Given the description of an element on the screen output the (x, y) to click on. 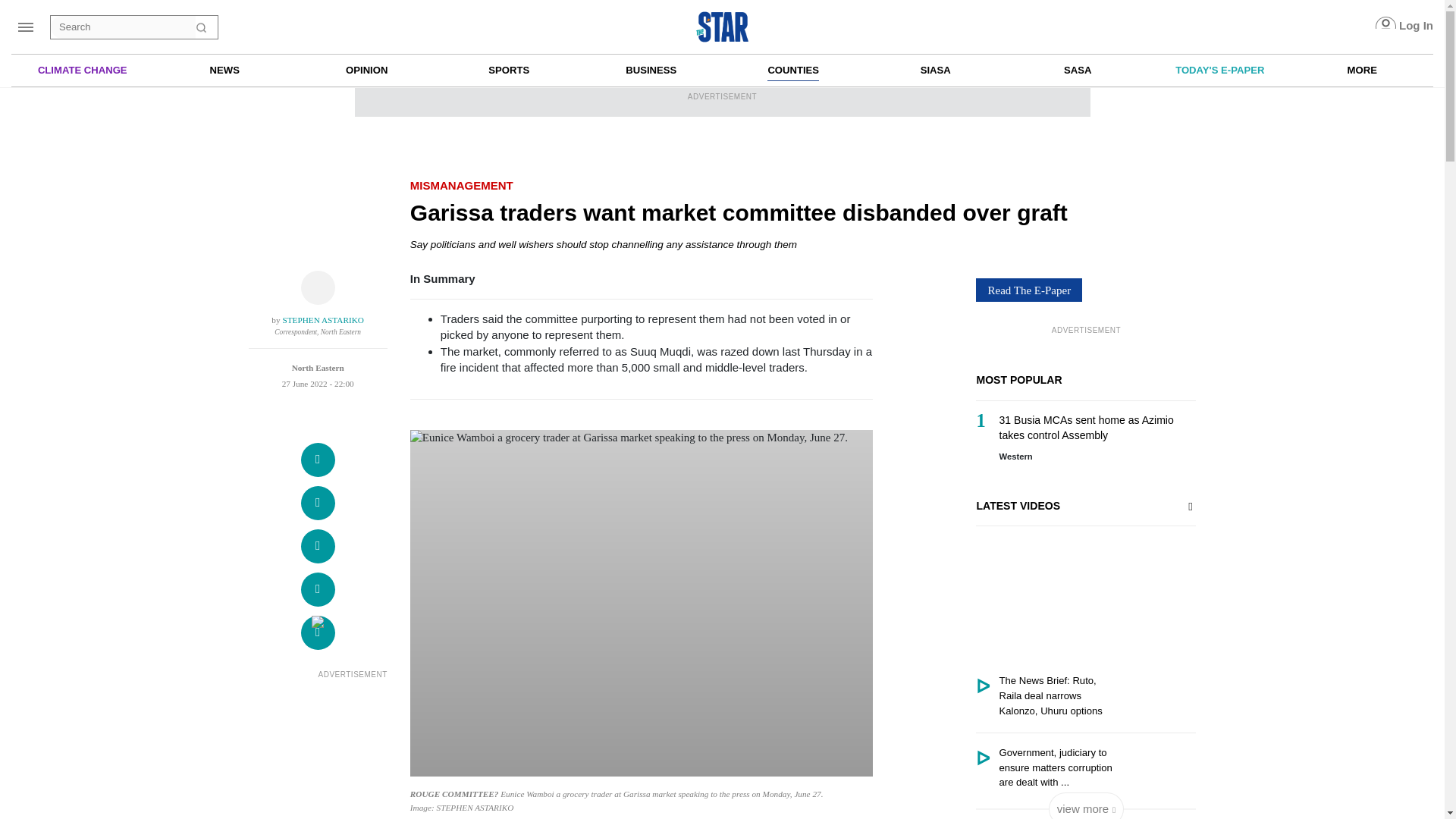
OPINION (366, 69)
Share by Email (317, 632)
SPORTS (508, 69)
COUNTIES (792, 71)
BUSINESS (651, 69)
CLIMATE CHANGE (82, 69)
Log In (1403, 26)
NEWS (224, 69)
